Given the description of an element on the screen output the (x, y) to click on. 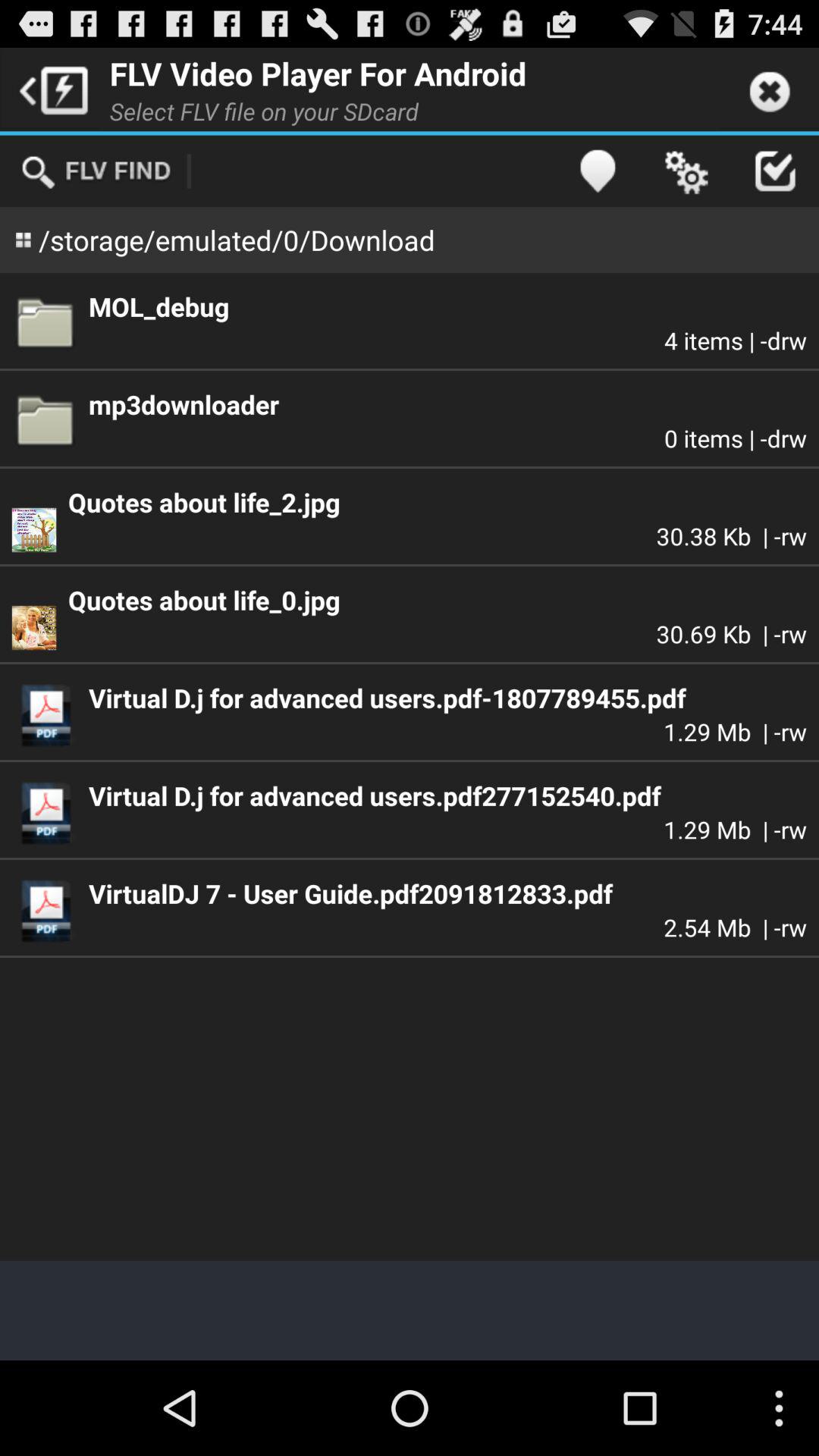
tap the icon above the 0 items | -drw app (447, 404)
